Given the description of an element on the screen output the (x, y) to click on. 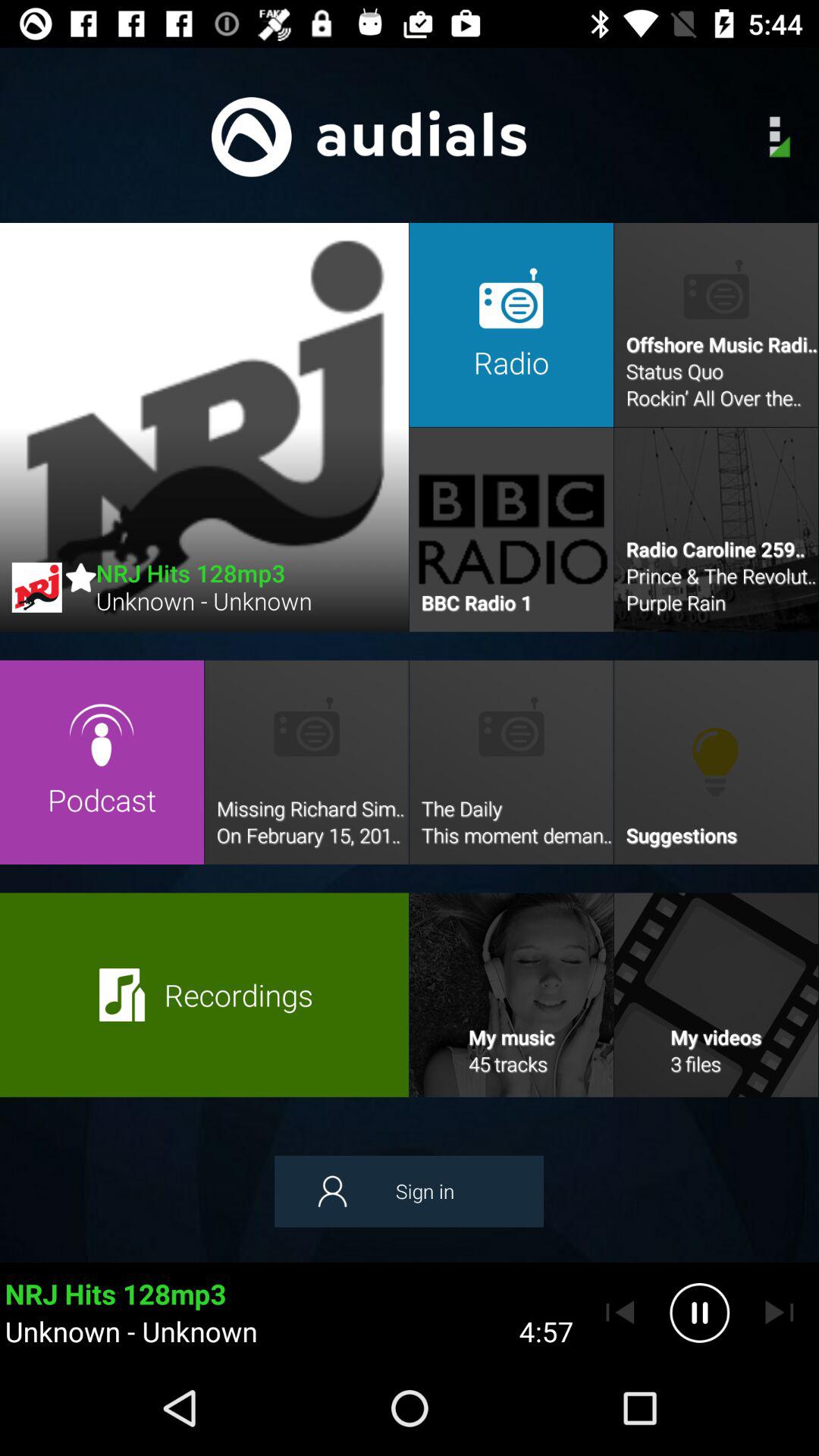
rewind song (619, 1312)
